Given the description of an element on the screen output the (x, y) to click on. 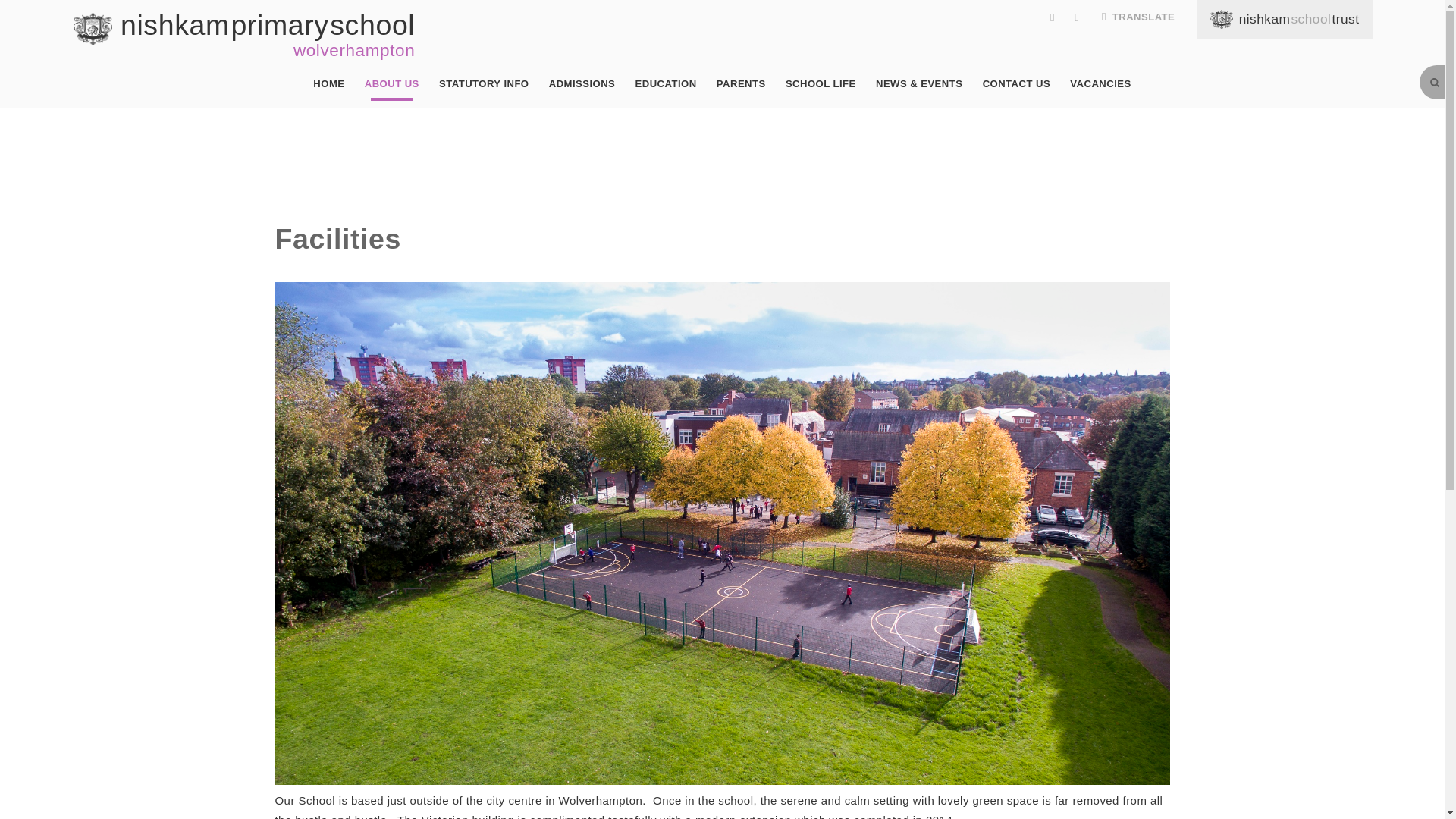
Staff (922, 123)
Facilities (245, 34)
History (867, 123)
Welcome (594, 123)
HOME (533, 123)
STATUTORY INFO (327, 84)
Collaborators (483, 84)
Virtue-led Education (667, 123)
ABOUT US (772, 123)
